Given the description of an element on the screen output the (x, y) to click on. 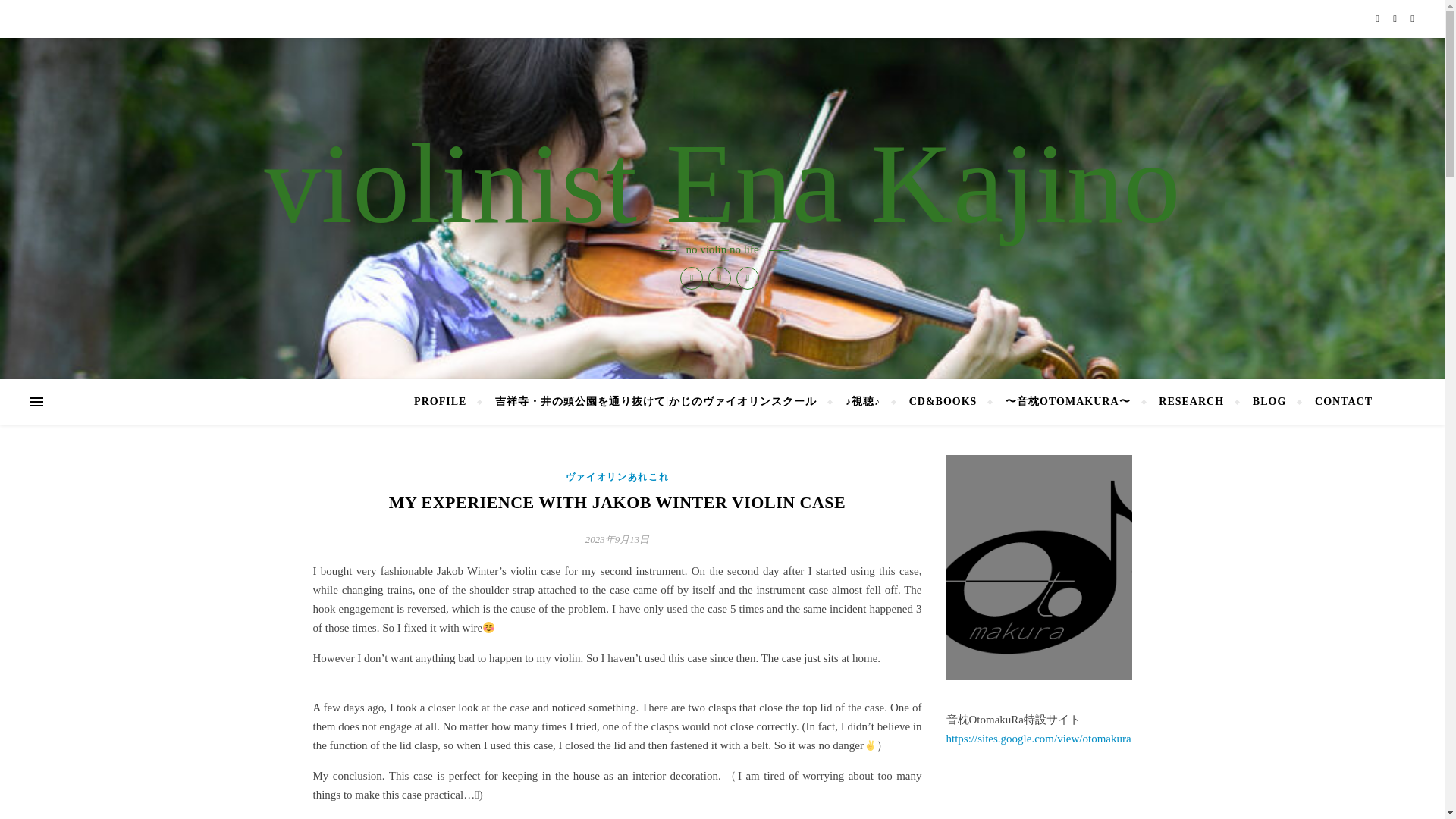
CONTACT (1337, 402)
BLOG (1269, 402)
PROFILE (446, 402)
RESEARCH (1190, 402)
